Given the description of an element on the screen output the (x, y) to click on. 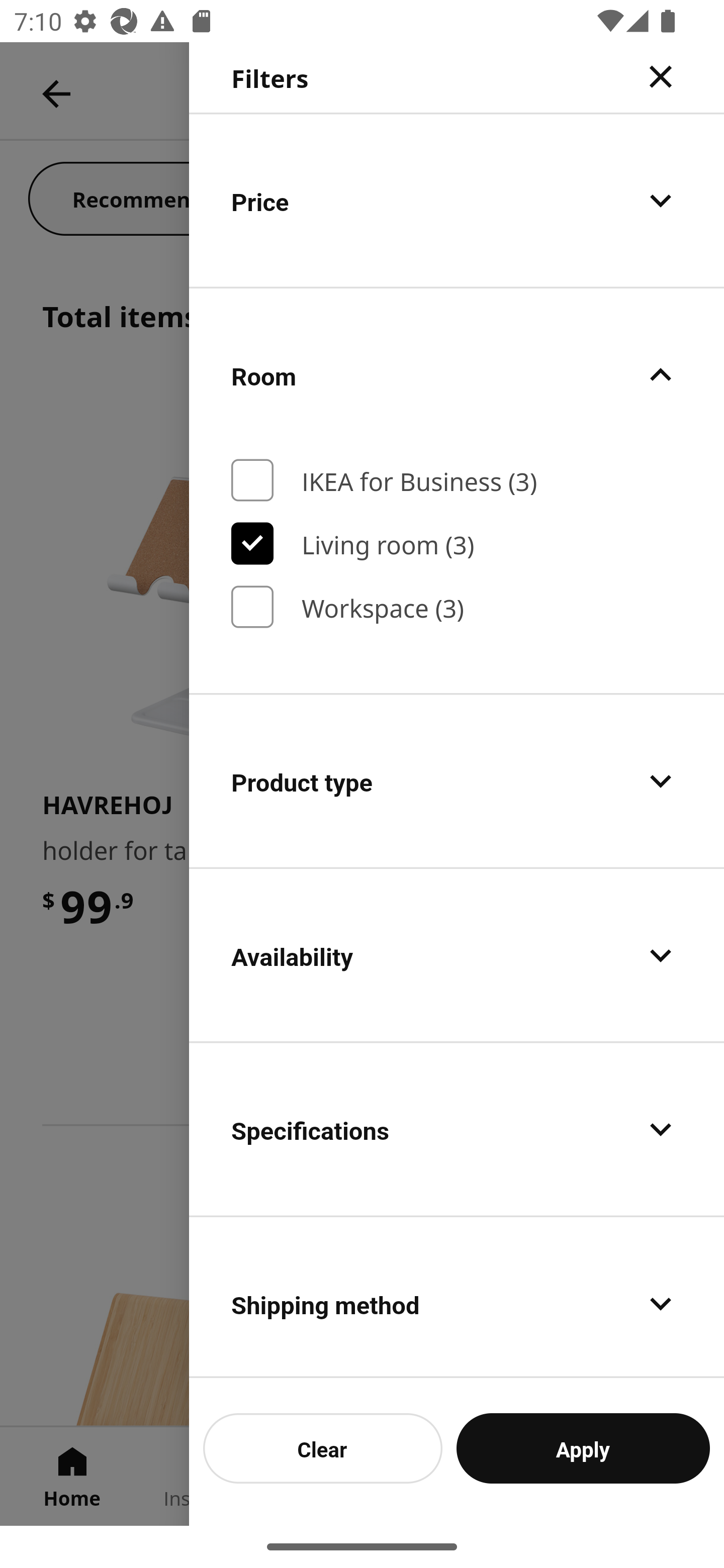
Price (456, 200)
Room (456, 374)
IKEA for Business (3) (456, 480)
Living room (3) (456, 543)
Workspace (3) (456, 607)
Product type (456, 780)
Availability (456, 954)
Specifications (456, 1128)
Shipping method (456, 1297)
Clear (322, 1447)
Apply (583, 1447)
